Given the description of an element on the screen output the (x, y) to click on. 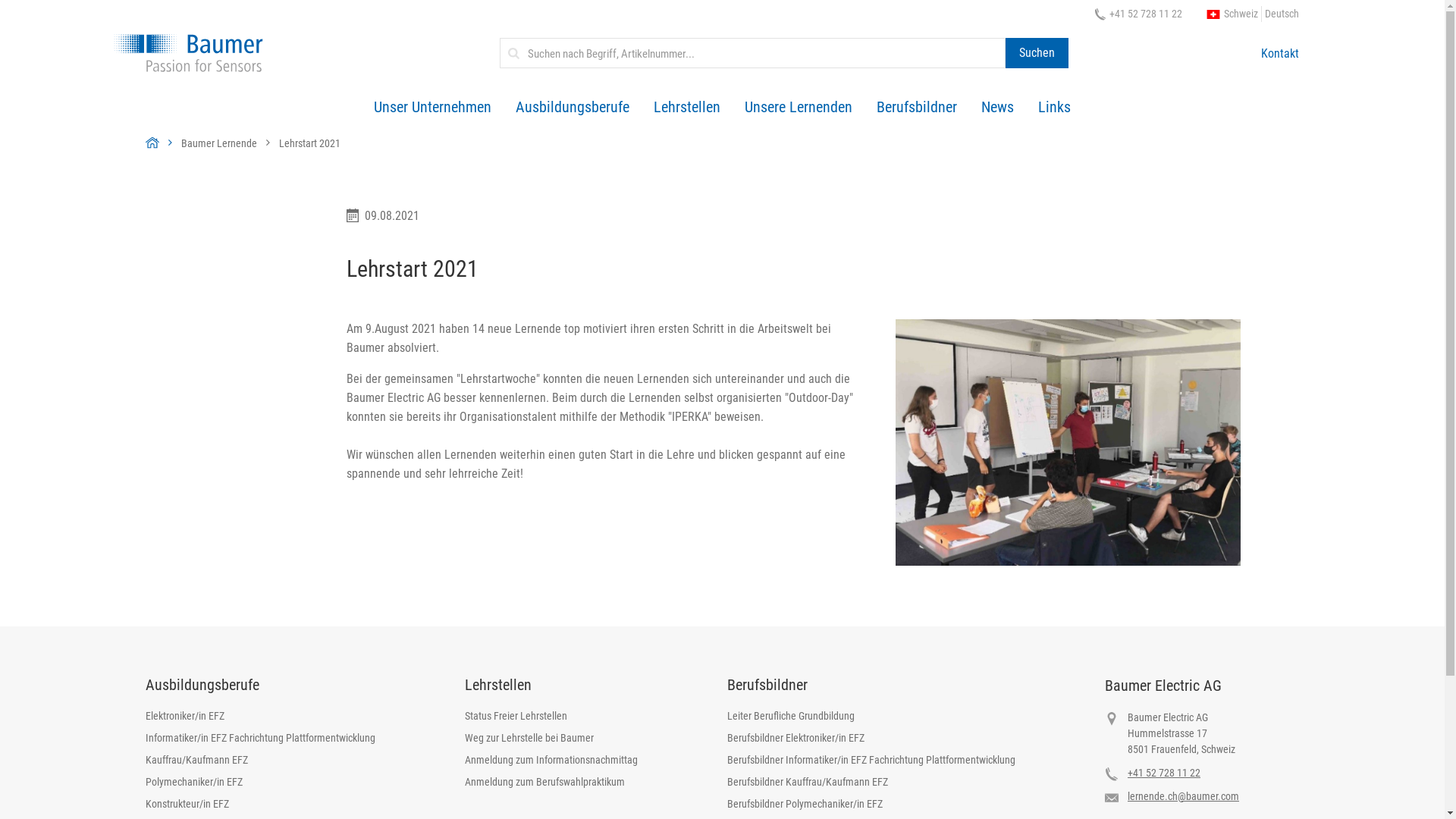
Anmeldung zum Berufswahlpraktikum Element type: text (550, 785)
Kauffrau/Kaufmann EFZ Element type: text (260, 763)
Unser Unternehmen Element type: text (432, 108)
Elektroniker/in EFZ Element type: text (260, 719)
Polymechaniker/in EFZ Element type: text (260, 785)
Berufsbildner Elektroniker/in EFZ Element type: text (871, 741)
Status Freier Lehrstellen Element type: text (550, 719)
lernende.ch@baumer.com Element type: text (1183, 796)
Berufsbildner Kauffrau/Kaufmann EFZ Element type: text (871, 785)
Suchen Element type: text (1036, 52)
Weg zur Lehrstelle bei Baumer Element type: text (550, 741)
Informatiker/in EFZ Fachrichtung Plattformentwicklung Element type: text (260, 741)
+41 52 728 11 22 Element type: text (1138, 14)
+41 52 728 11 22 Element type: text (1163, 772)
Anmeldung zum Informationsnachmittag Element type: text (550, 763)
Kontakt Element type: text (1280, 52)
Konstrukteur/in EFZ Element type: text (260, 807)
News Element type: text (997, 108)
Leiter Berufliche Grundbildung Element type: text (871, 719)
Links Element type: text (1054, 108)
Berufsbildner Polymechaniker/in EFZ Element type: text (871, 807)
